Given the description of an element on the screen output the (x, y) to click on. 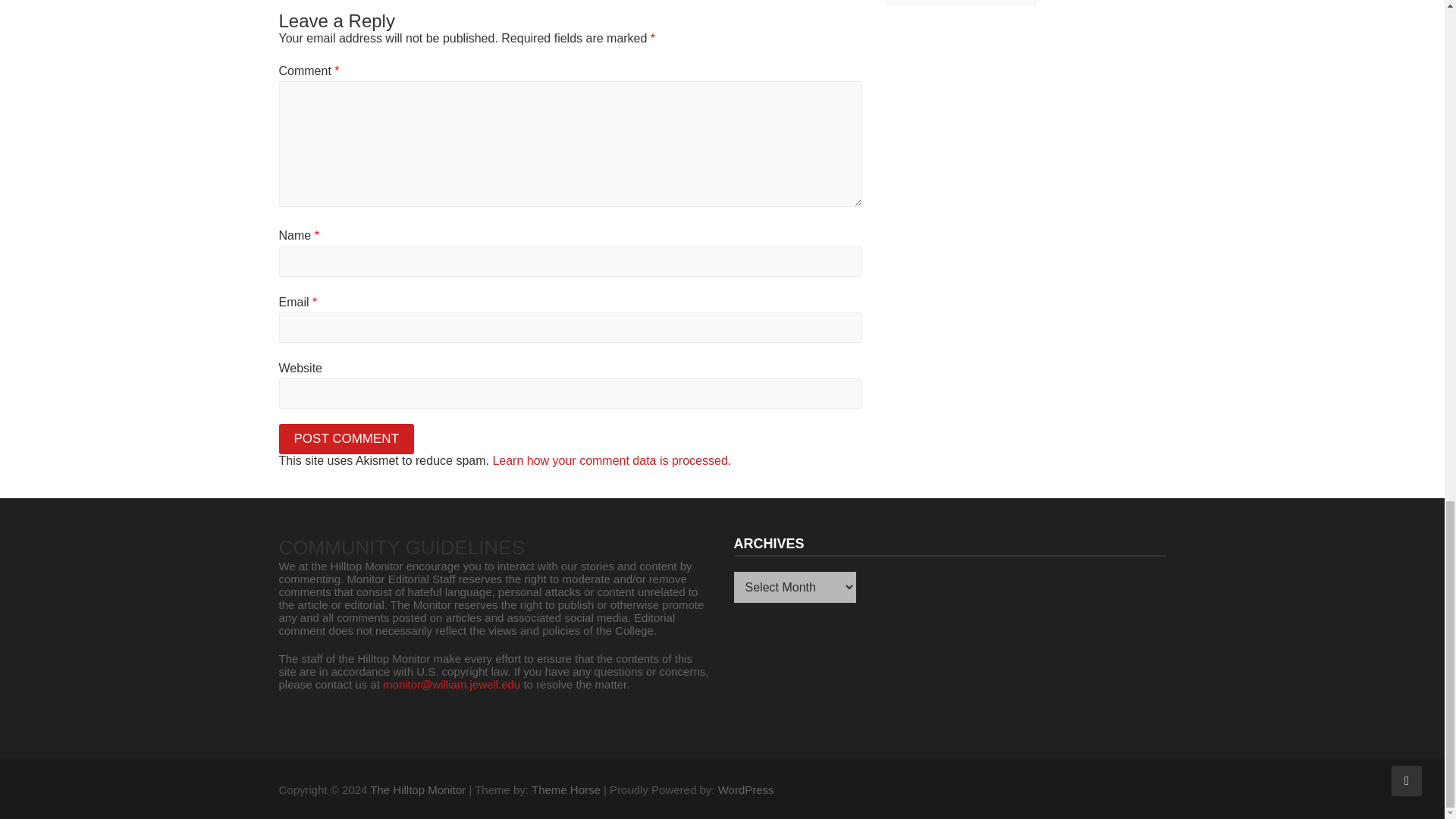
WordPress (745, 789)
Theme Horse (565, 789)
The Hilltop Monitor (417, 789)
Post Comment (346, 439)
